Given the description of an element on the screen output the (x, y) to click on. 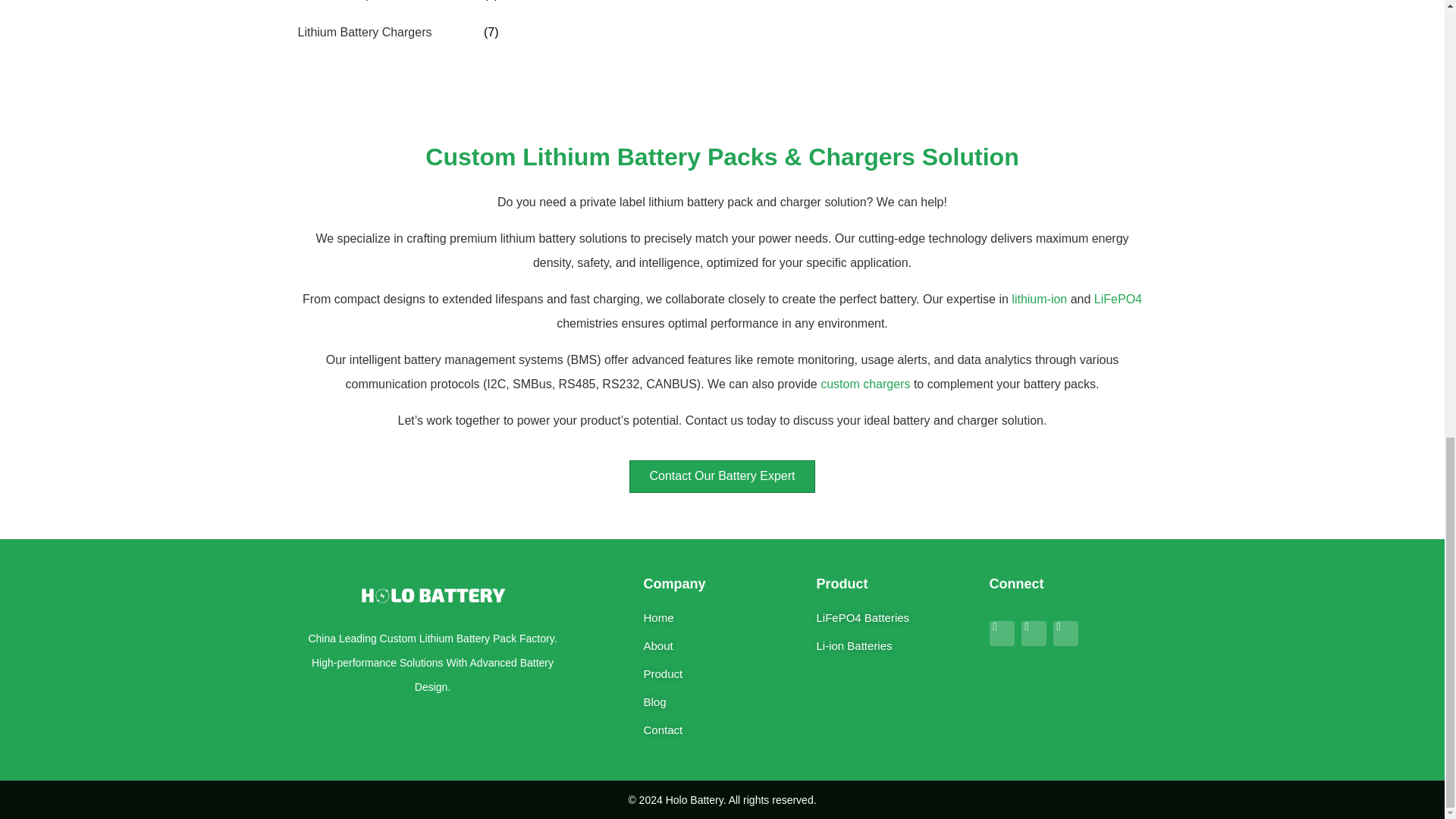
About (721, 645)
custom chargers (865, 383)
Home (721, 617)
Contact Our Battery Expert (721, 476)
Product (721, 673)
Blog (721, 702)
LiFePO4 (1117, 298)
lithium-ion (1039, 298)
Contact (721, 730)
